Given the description of an element on the screen output the (x, y) to click on. 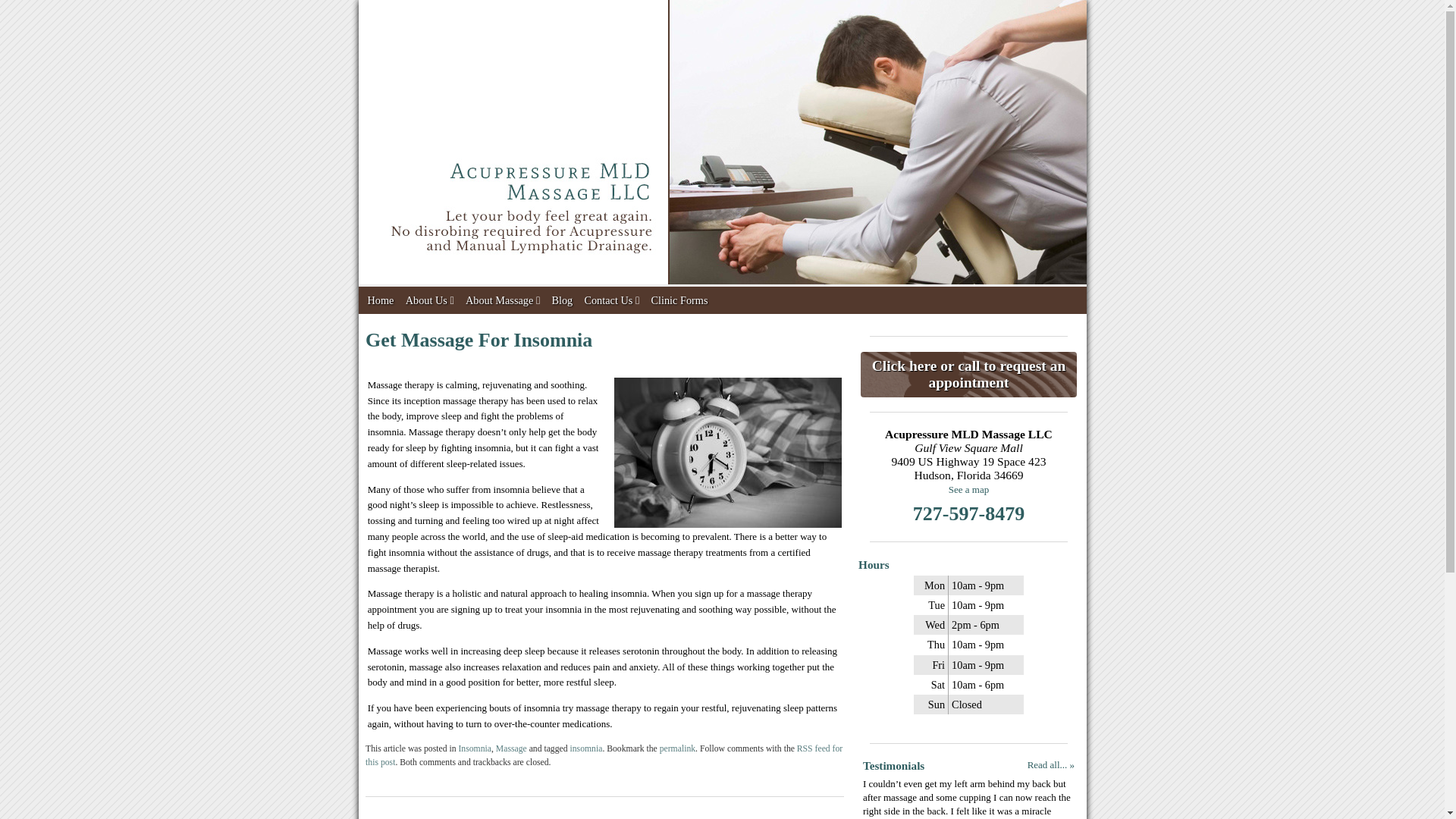
Blog (561, 299)
Comments RSS to Get Massage for Insomnia (604, 755)
Home (379, 299)
About Massage (502, 299)
Contact Us (611, 299)
Insomnia (475, 748)
RSS feed for this post (604, 755)
About Us (429, 299)
See a map (968, 489)
Permalink to Get Massage for Insomnia (677, 748)
Clinic Forms (678, 299)
permalink (677, 748)
Click here or call to request an appointment (968, 374)
insomnia (586, 748)
